Given the description of an element on the screen output the (x, y) to click on. 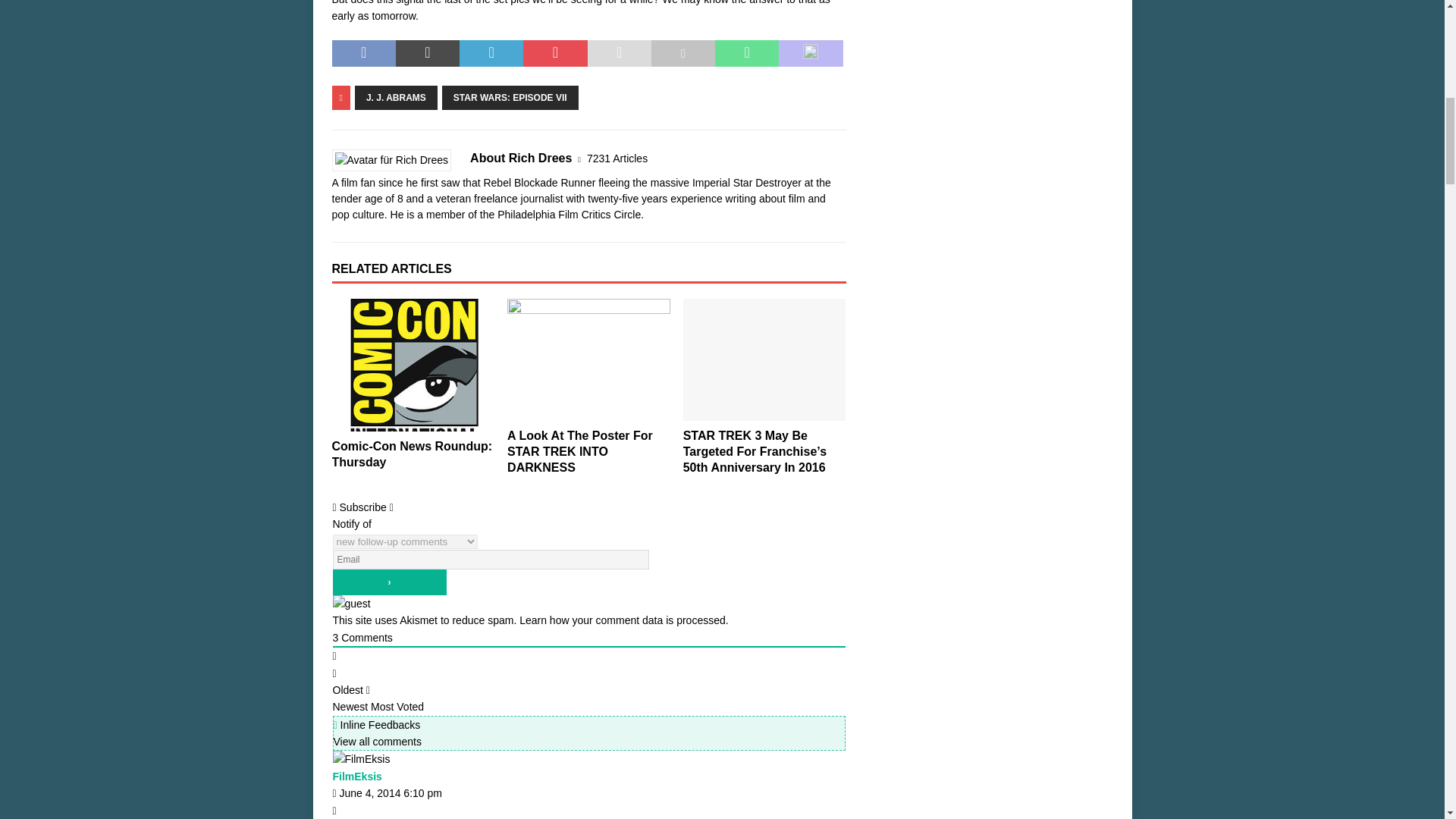
Send this article to a friend (619, 53)
Comic-Con News Roundup: Thursday (412, 453)
Share on Whatsapp (746, 53)
J. J. ABRAMS (396, 97)
Tweet This Post (428, 53)
Share On Mastodon (810, 53)
Comic-Con News Roundup: Thursday (413, 364)
Comic-Con News Roundup: Thursday (412, 453)
A Look At The Poster For STAR TREK INTO DARKNESS (587, 359)
7231 Articles (616, 158)
Share on LinkedIn (491, 53)
Share on Facebook (363, 53)
Print this article (682, 53)
More articles written by Rich Drees' (616, 158)
Pin This Post (554, 53)
